Given the description of an element on the screen output the (x, y) to click on. 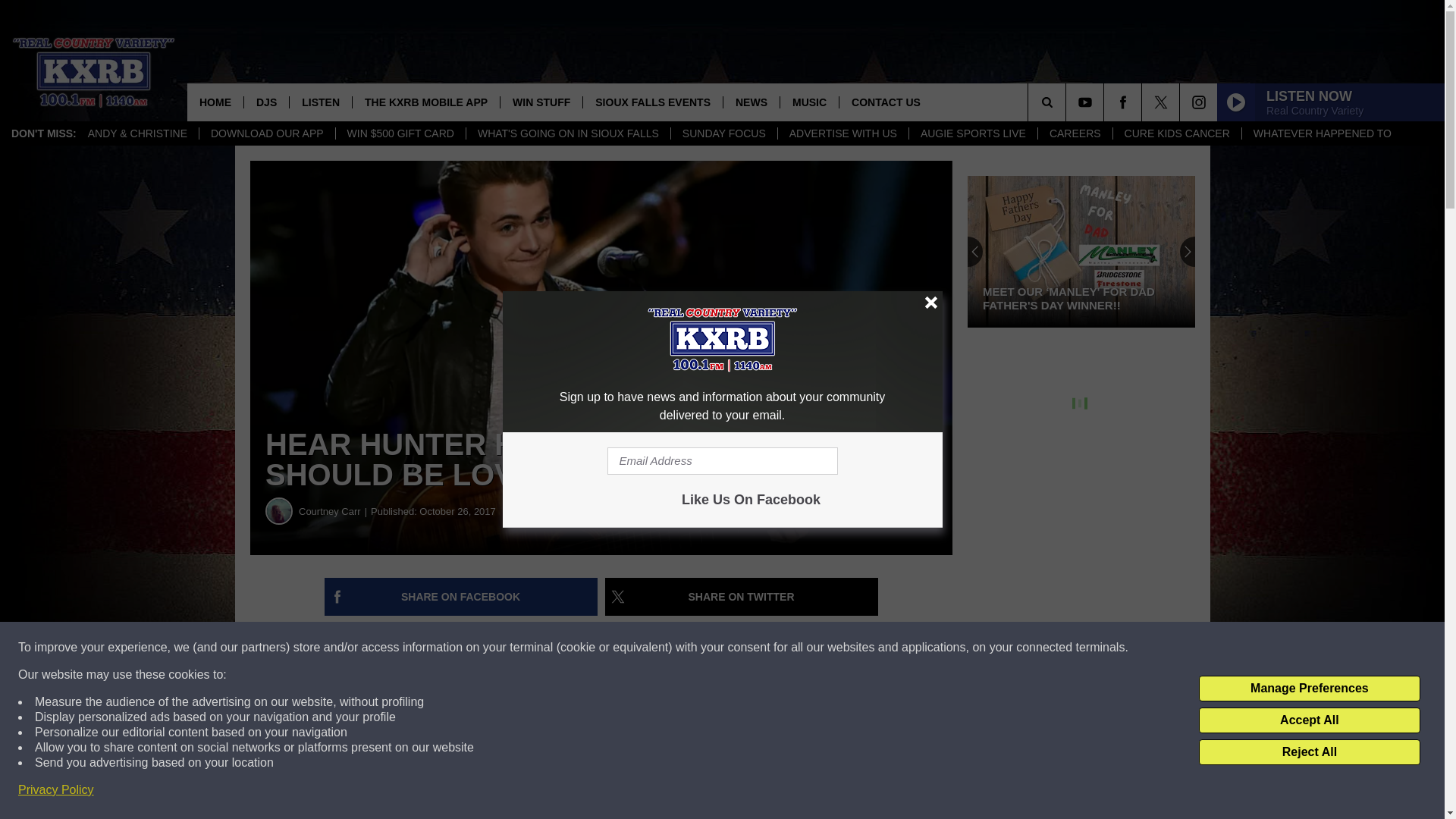
CAREERS (1074, 133)
Email Address (722, 461)
SUNDAY FOCUS (723, 133)
ADVERTISE WITH US (842, 133)
WHAT'S GOING ON IN SIOUX FALLS (567, 133)
DJS (265, 102)
Reject All (1309, 751)
Accept All (1309, 720)
THE KXRB MOBILE APP (425, 102)
Share on Facebook (460, 596)
DOWNLOAD OUR APP (266, 133)
SEARCH (1068, 102)
CURE KIDS CANCER (1176, 133)
HOME (215, 102)
WHATEVER HAPPENED TO (1322, 133)
